Given the description of an element on the screen output the (x, y) to click on. 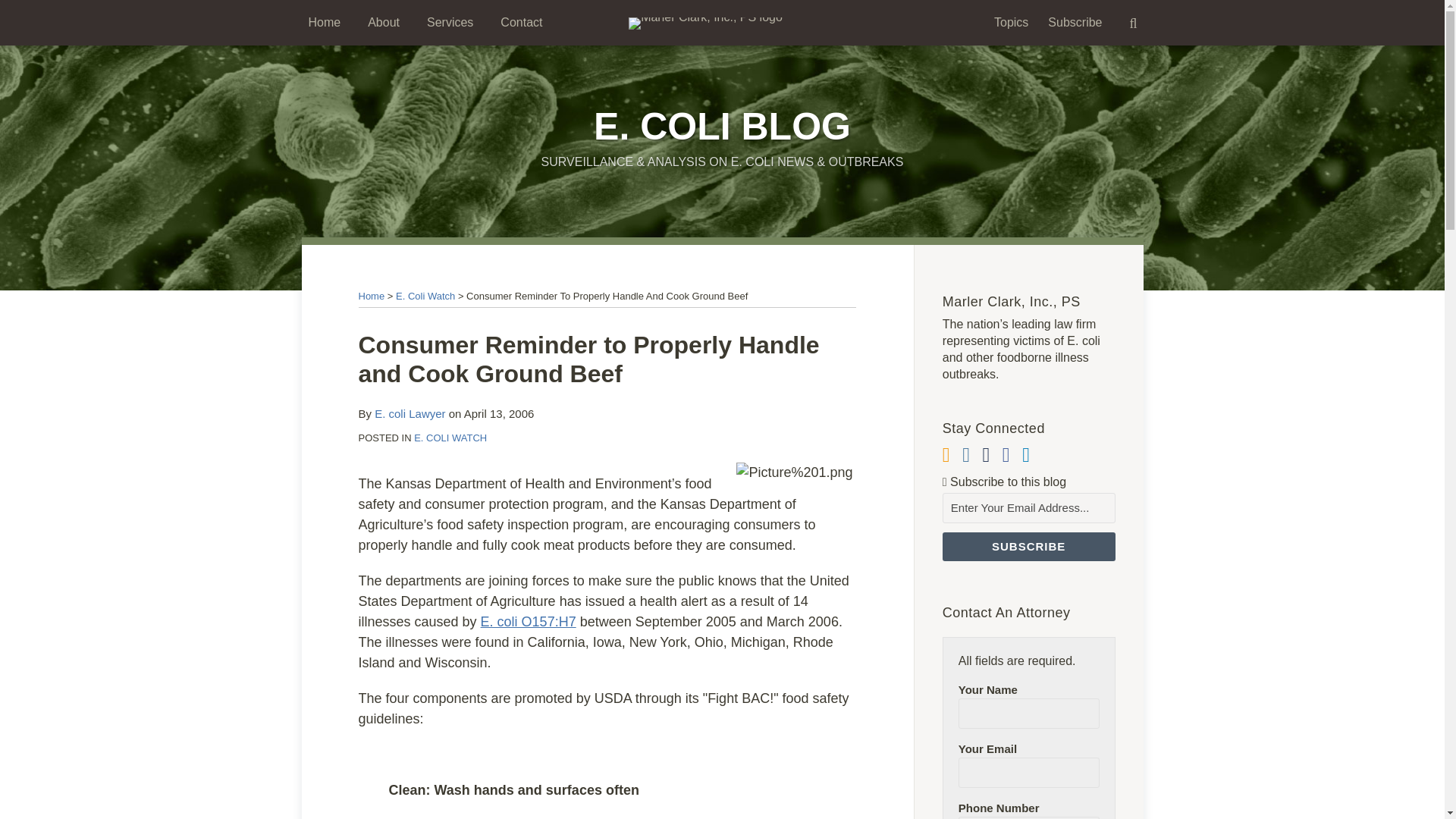
E. COLI WATCH (449, 437)
E. COLI BLOG (722, 126)
Subscribe (1028, 546)
E. Coli Watch (425, 296)
About (383, 22)
Home (371, 296)
Contact (520, 22)
Subscribe (1028, 546)
E. coli O157:H7 (528, 621)
Services (449, 22)
